Given the description of an element on the screen output the (x, y) to click on. 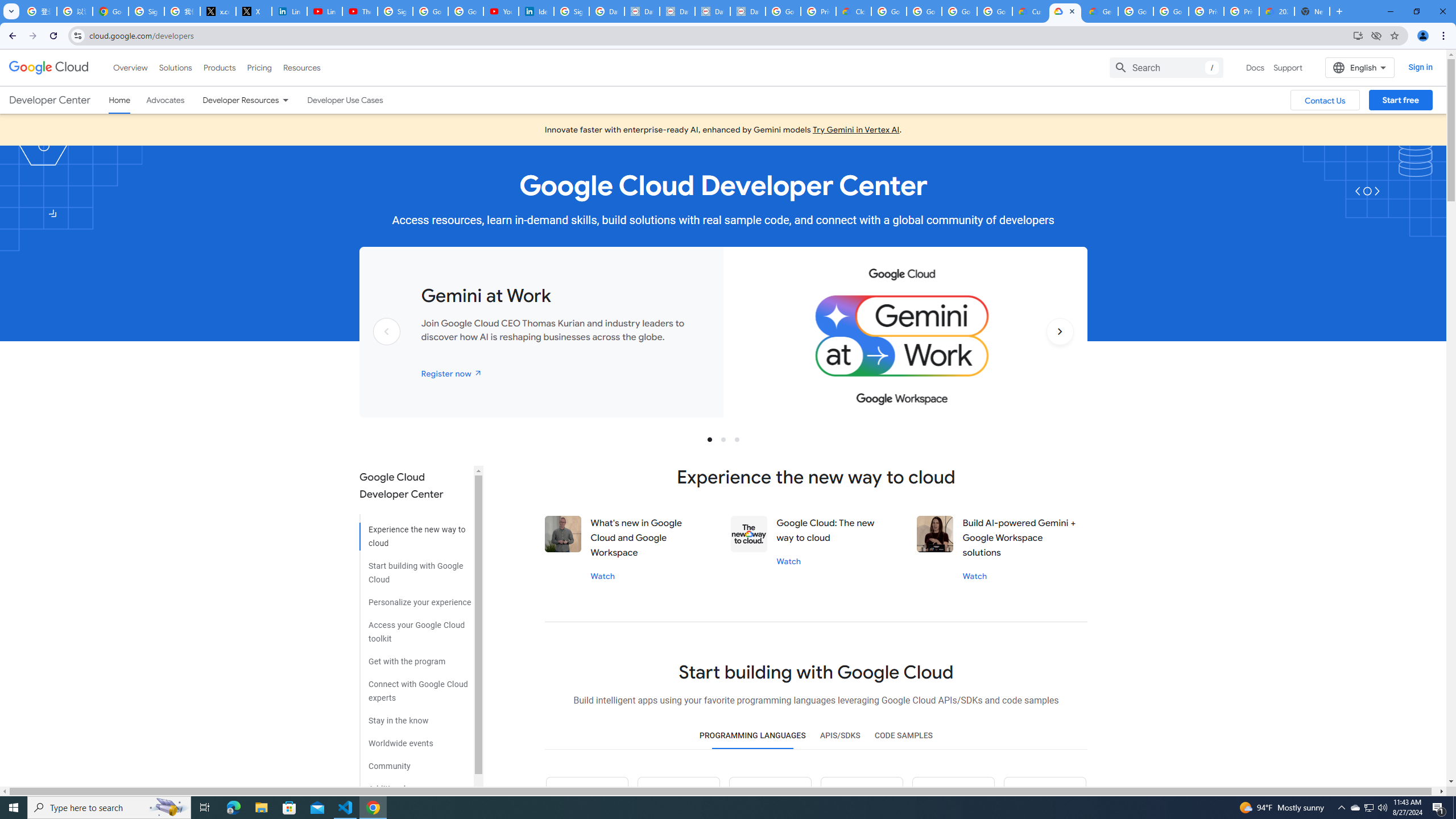
Connect with Google Cloud experts (415, 687)
Data Privacy Framework (712, 11)
Community (415, 762)
Data Privacy Framework (677, 11)
CODE SAMPLES (903, 735)
APIS/SDKS (839, 735)
Google Workspace - Specific Terms (994, 11)
Previous slide (386, 349)
Pricing (259, 67)
